Given the description of an element on the screen output the (x, y) to click on. 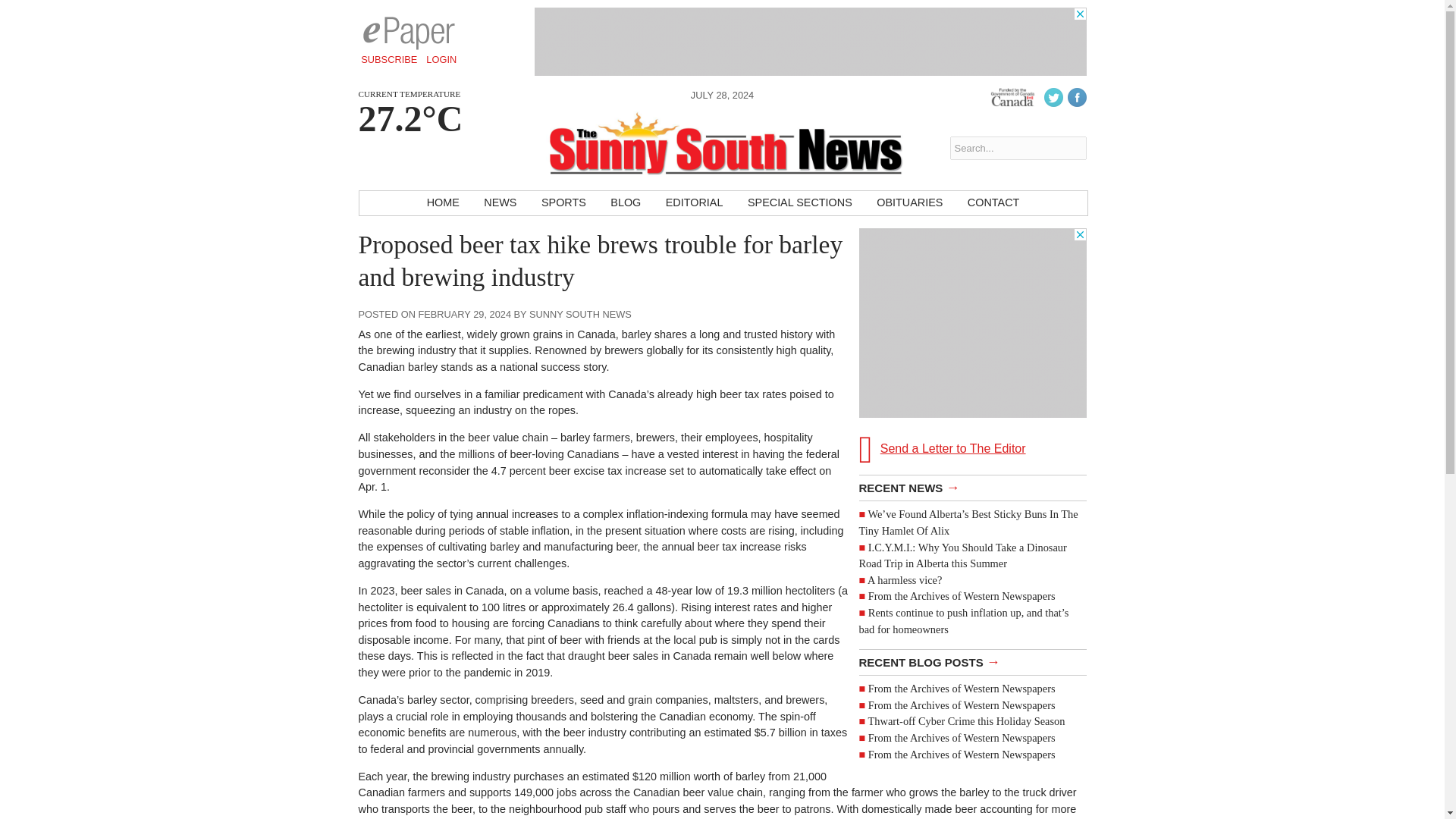
CONTACT (992, 202)
From the Archives of Western Newspapers (961, 705)
From the Archives of Western Newspapers (961, 737)
Send a Letter to The Editor (972, 348)
From the Archives of Western Newspapers (961, 753)
NEWS (500, 202)
Thwart-off Cyber Crime this Holiday Season (966, 720)
SUBSCRIBE (389, 58)
OBITUARIES (909, 202)
From the Archives of Western Newspapers (961, 595)
SPECIAL SECTIONS (799, 202)
SPORTS (563, 202)
3rd party ad content (972, 322)
BLOG (624, 202)
